Given the description of an element on the screen output the (x, y) to click on. 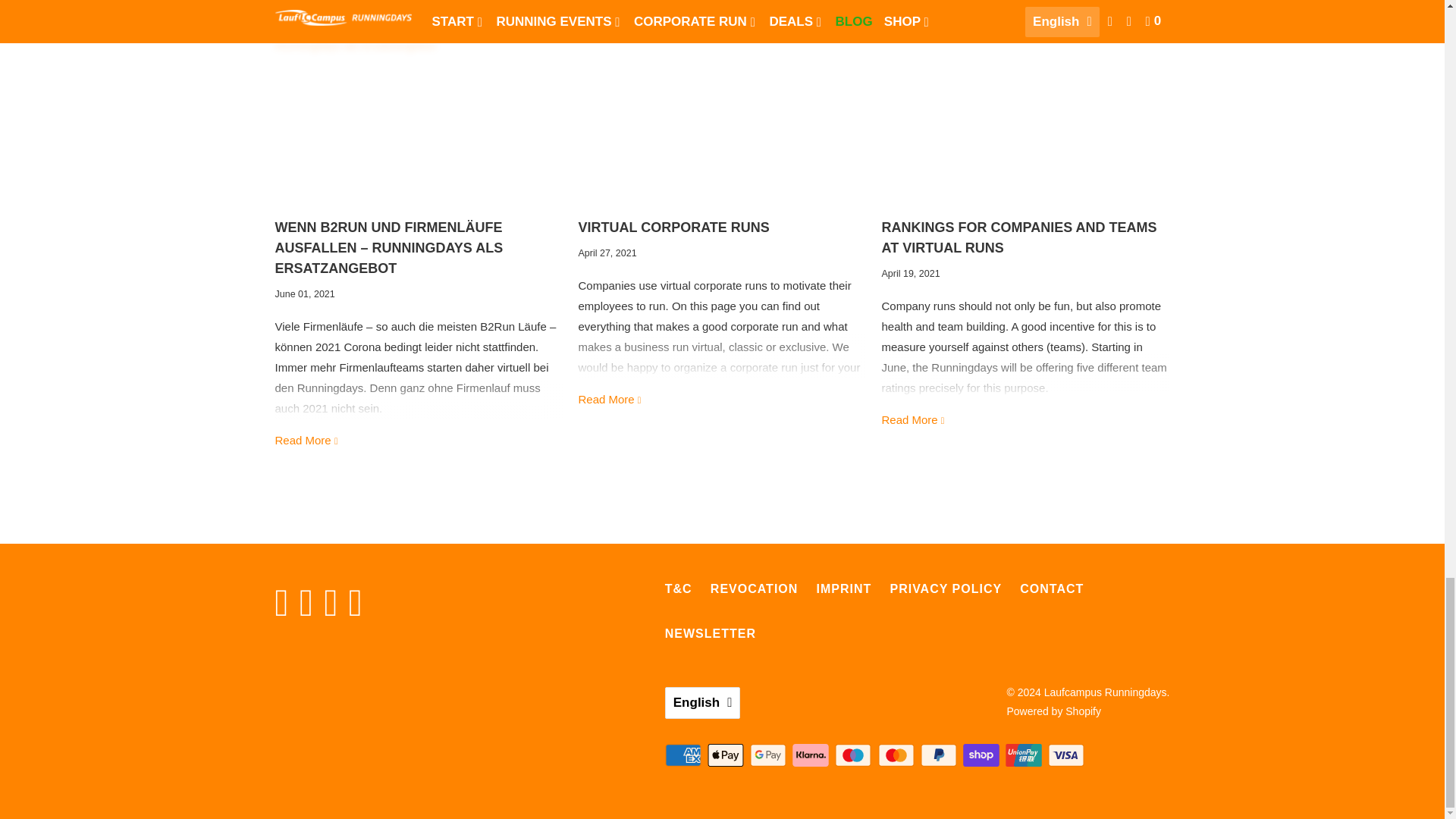
Klarna (811, 754)
Apple Pay (726, 754)
Shop Pay (982, 754)
Google Pay (769, 754)
Maestro (854, 754)
Mastercard (897, 754)
Virtual Corporate Runs (610, 399)
Virtual Corporate Runs (673, 227)
PayPal (939, 754)
Virtual Corporate Runs (722, 110)
Visa (1067, 754)
Rankings for companies and teams at virtual runs (1018, 237)
American Express (684, 754)
Union Pay (1025, 754)
Rankings for companies and teams at virtual runs (1024, 110)
